Given the description of an element on the screen output the (x, y) to click on. 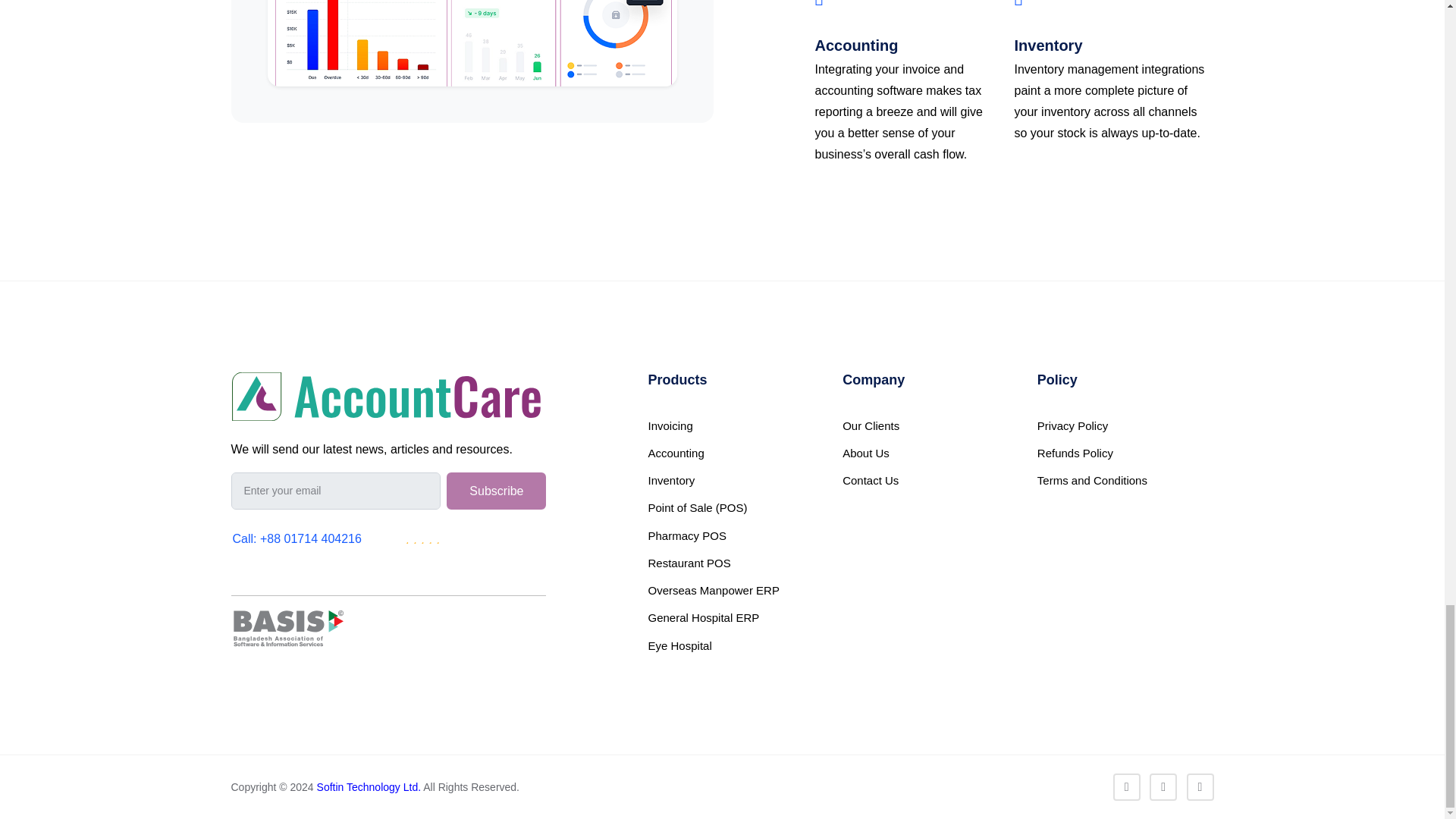
Invoicing (736, 425)
Subscribe (496, 490)
